Given the description of an element on the screen output the (x, y) to click on. 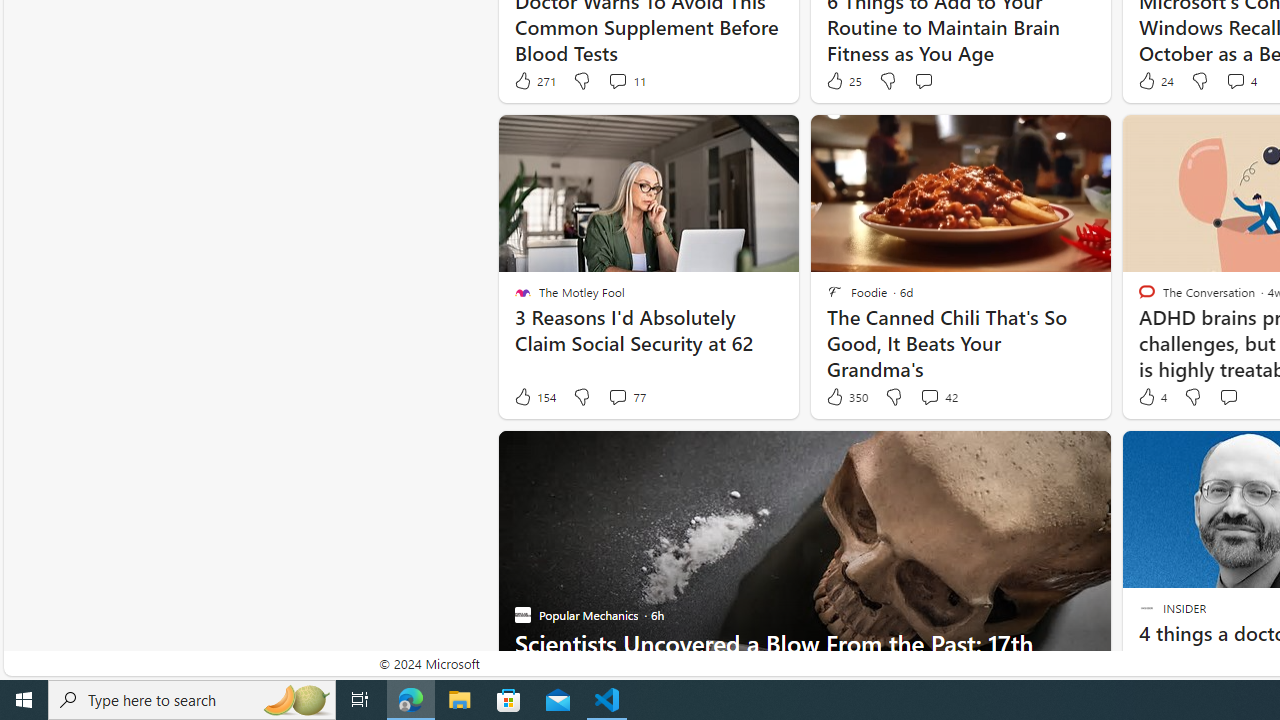
271 Like (534, 80)
350 Like (845, 397)
4 Like (1151, 397)
View comments 4 Comment (1240, 80)
View comments 77 Comment (617, 396)
View comments 42 Comment (938, 397)
View comments 11 Comment (626, 80)
25 Like (843, 80)
Hide this story (1169, 454)
24 Like (1154, 80)
View comments 42 Comment (929, 396)
